Given the description of an element on the screen output the (x, y) to click on. 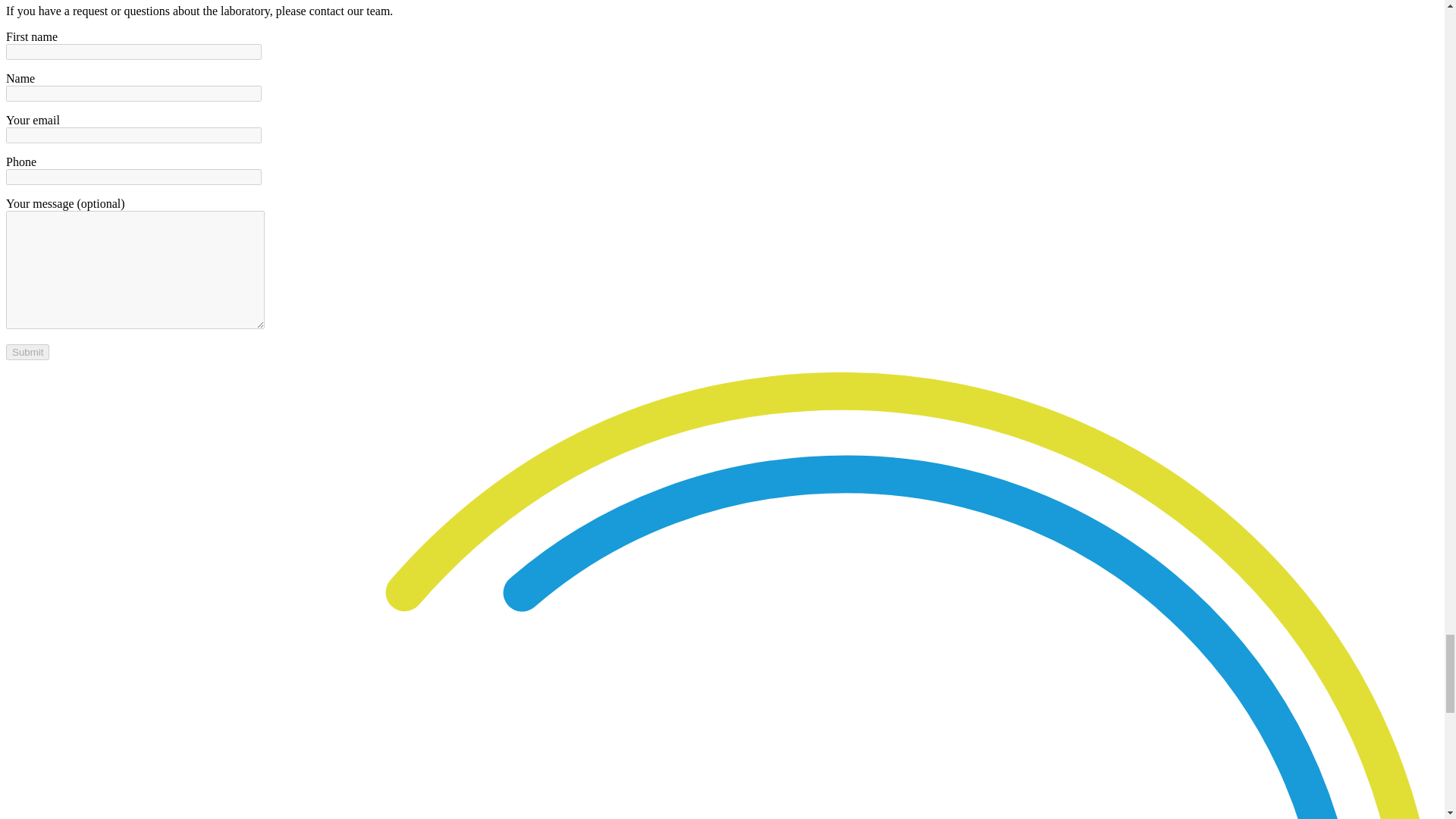
Submit (27, 351)
